Given the description of an element on the screen output the (x, y) to click on. 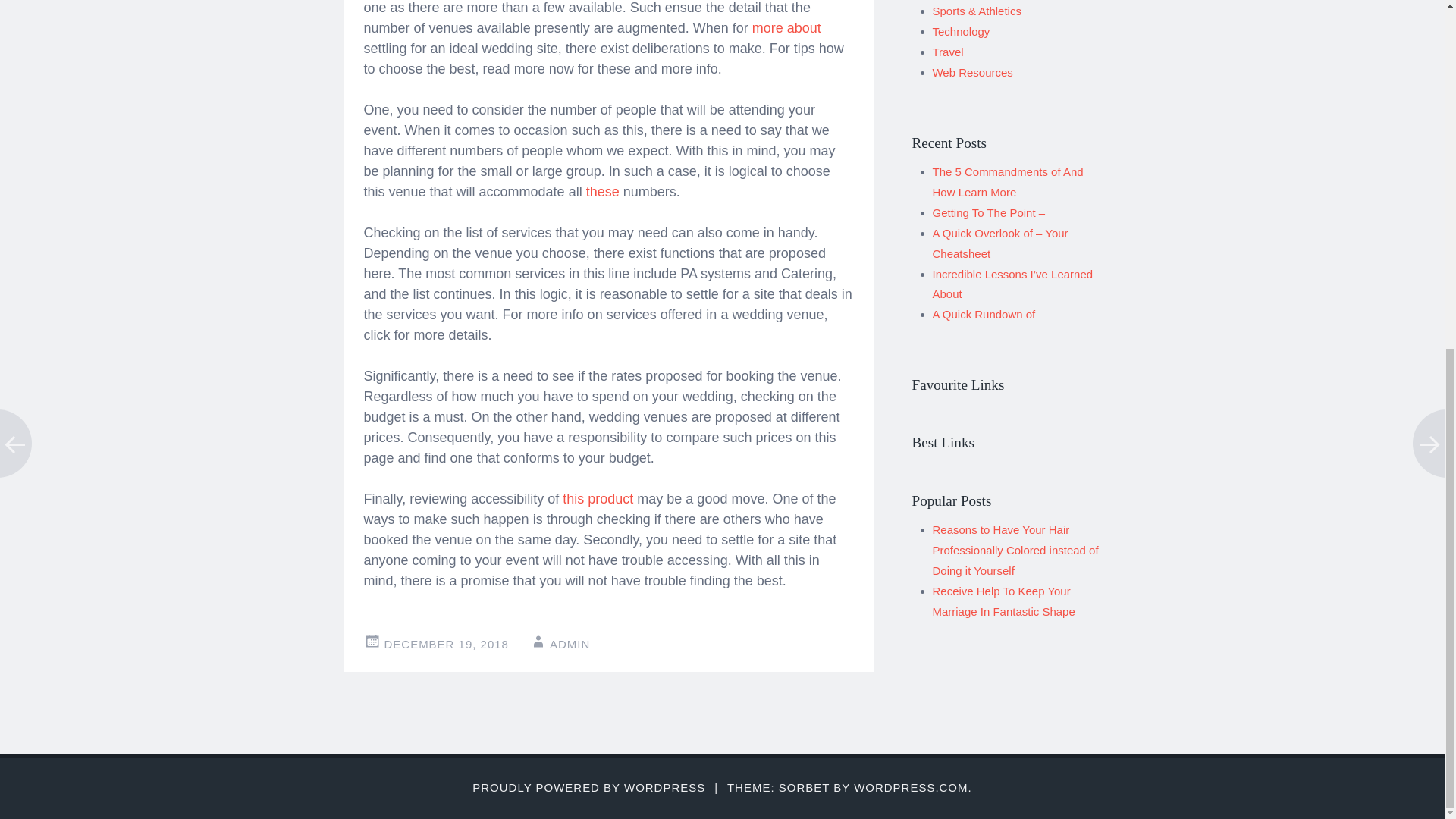
more about (786, 28)
Travel (948, 51)
Web Resources (973, 72)
this product (597, 498)
View all posts by admin (569, 644)
A Quick Rundown of (984, 314)
Receive Help To Keep Your Marriage In Fantastic Shape (1004, 601)
ADMIN (569, 644)
2:59 pm (446, 644)
these (603, 191)
